Given the description of an element on the screen output the (x, y) to click on. 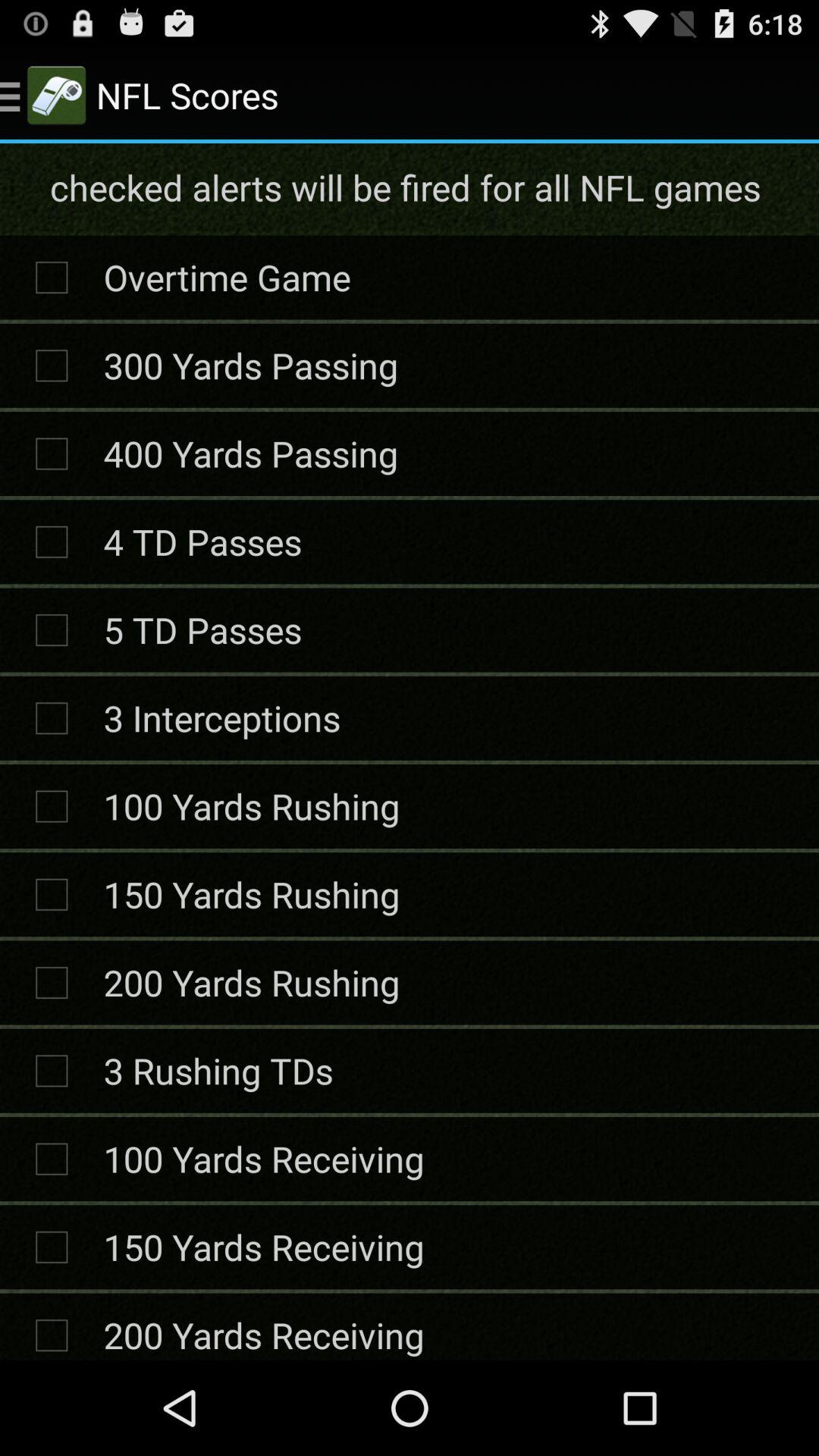
tap the 3 rushing tds (218, 1070)
